Given the description of an element on the screen output the (x, y) to click on. 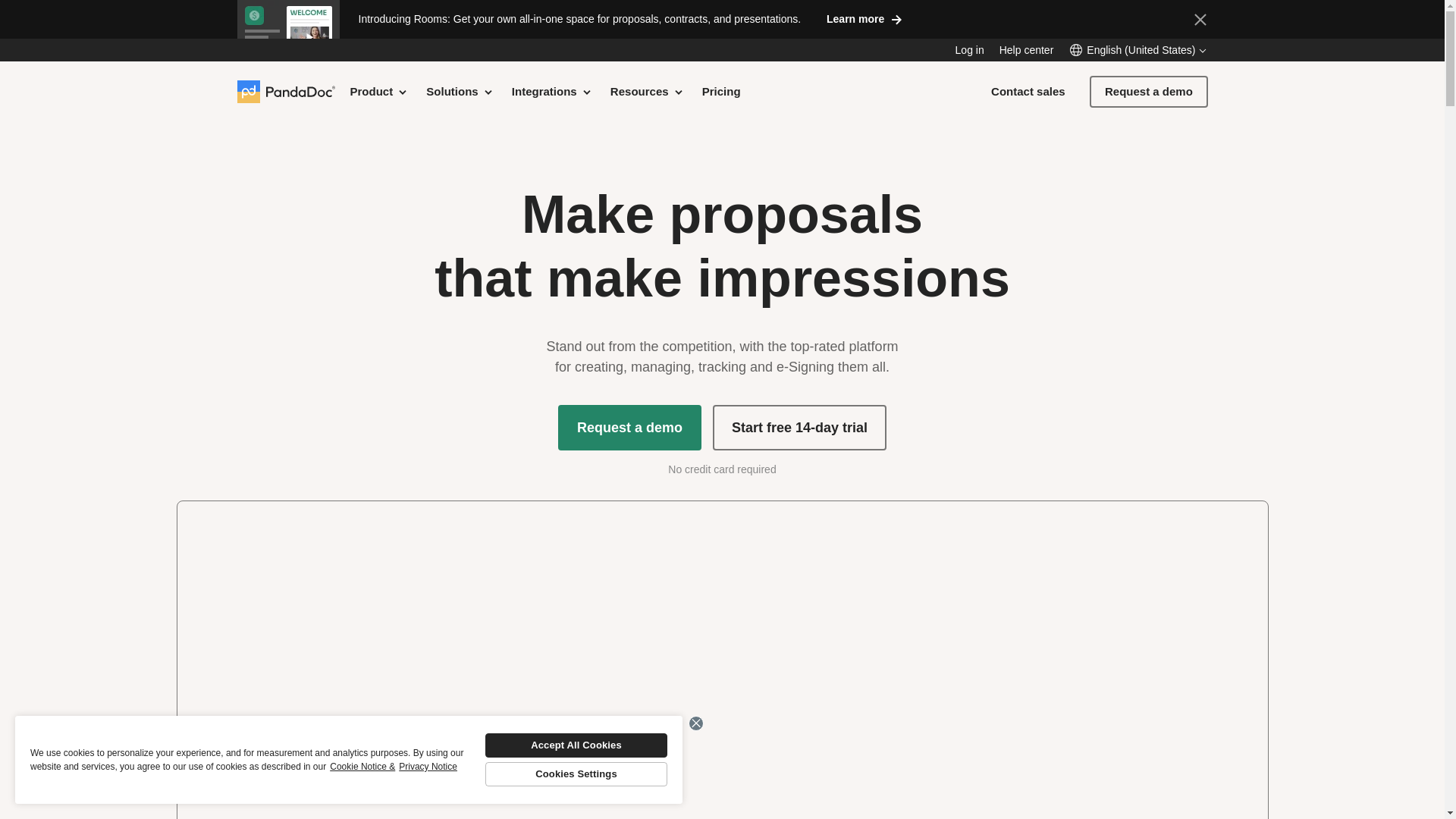
Solutions (459, 91)
Learn more (864, 18)
Product (379, 91)
Help center (1026, 50)
Log in (969, 50)
